Given the description of an element on the screen output the (x, y) to click on. 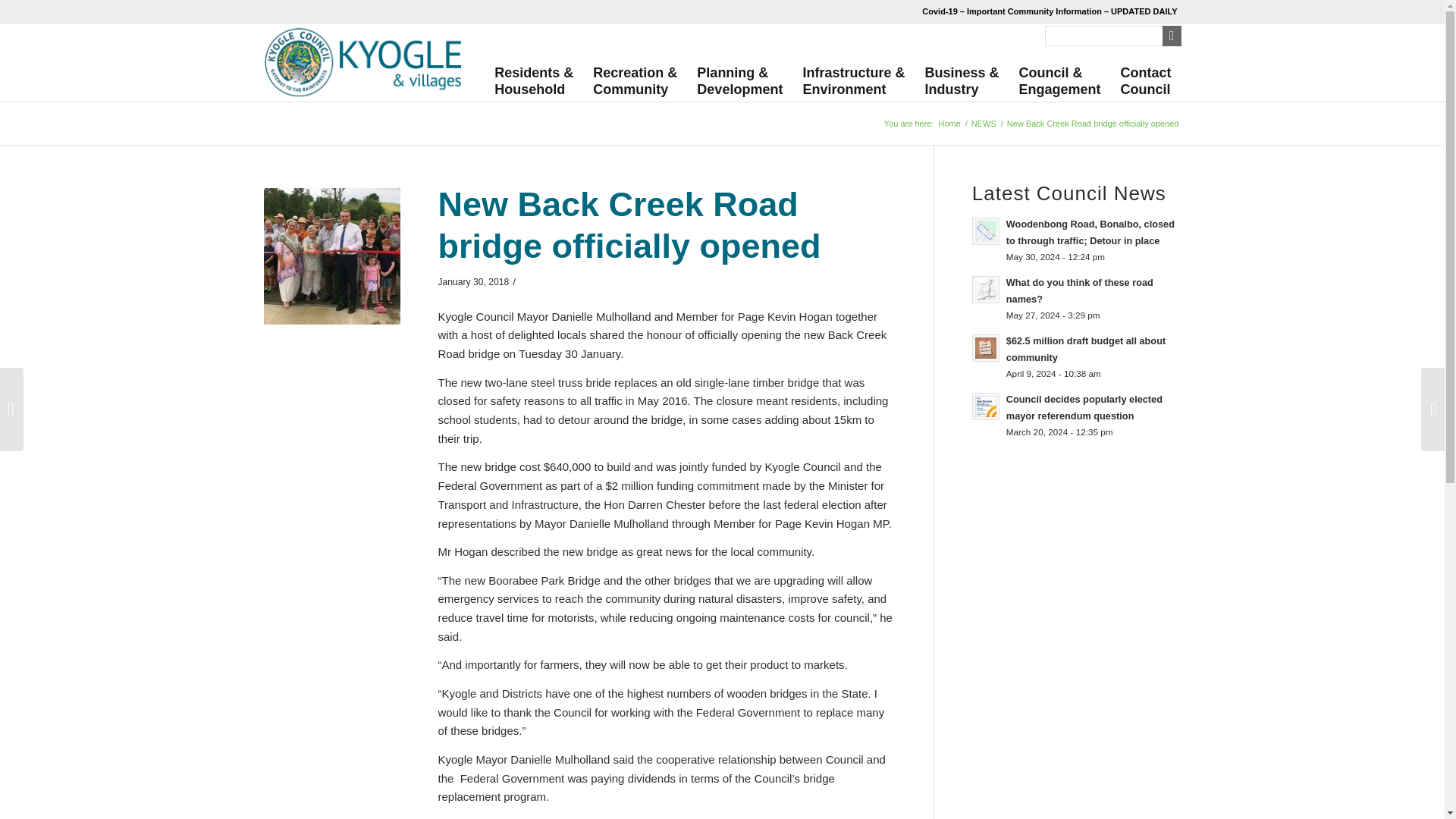
Click to start search (1170, 35)
kyogle-council-nsw-logo-2019 (363, 63)
Read: What do you think of these road names? (985, 289)
Read: What do you think of these road names? (1079, 290)
UPDATED DAILY (1143, 10)
Kyogle Council (949, 123)
Back Creek Road Bridge opening fb (331, 256)
